Given the description of an element on the screen output the (x, y) to click on. 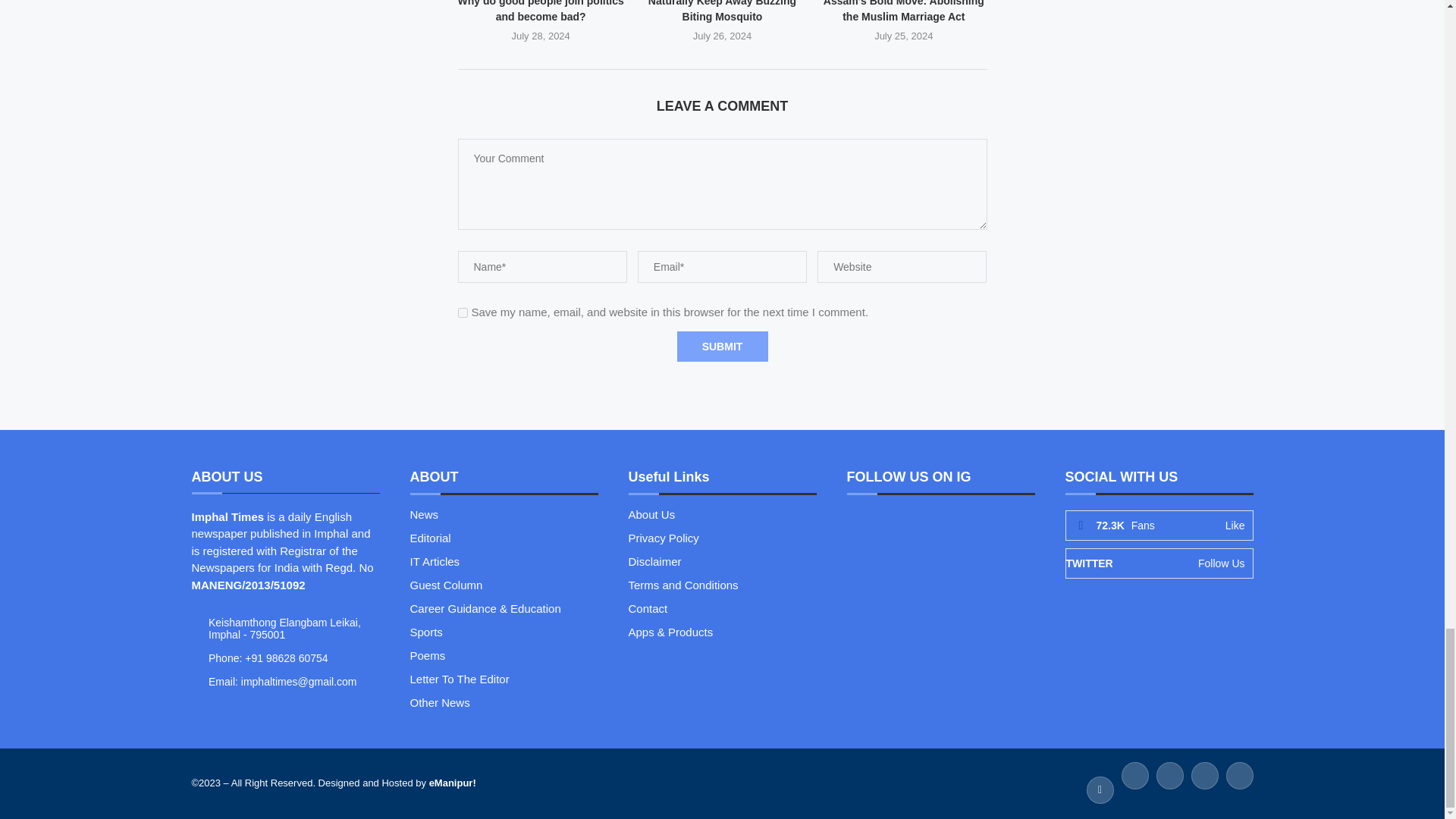
Submit (722, 346)
yes (462, 312)
